Given the description of an element on the screen output the (x, y) to click on. 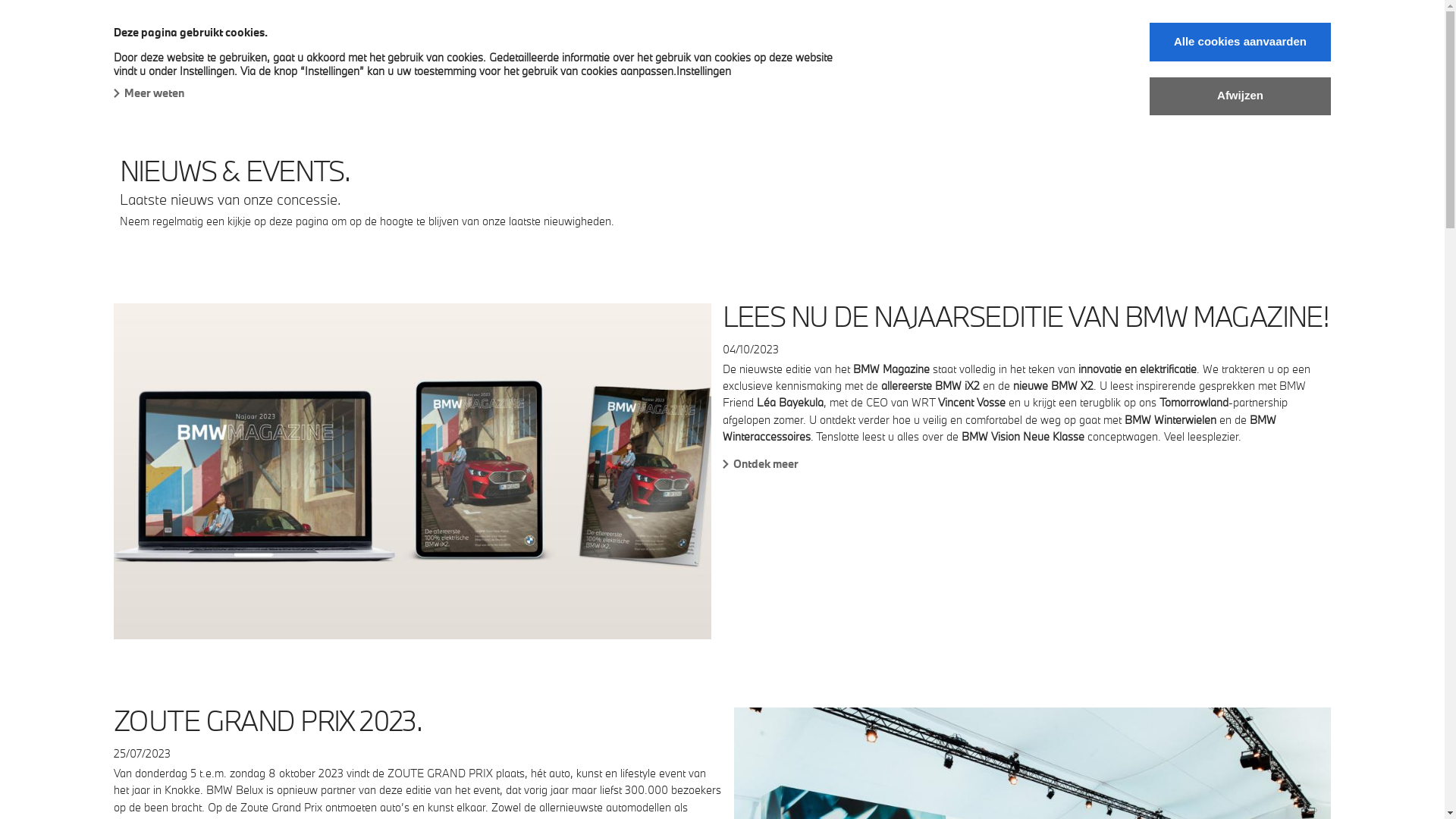
News Element type: text (659, 64)
Jobs Element type: text (717, 63)
LEES NU DE NAJAARSEDITIE VAN BMW MAGAZINE! Element type: text (1024, 316)
Alle cookies aanvaarden Element type: text (1239, 41)
Nieuwe wagens Element type: text (163, 63)
Contact Element type: text (902, 63)
Snel leverbare wagens Element type: text (301, 63)
Carrosserie DBS Element type: text (804, 63)
Ontdek meer Element type: text (1025, 463)
BMW De Schepper Element type: text (166, 31)
BMW Financial Services Element type: text (548, 63)
Afwijzen Element type: text (1239, 95)
Meer weten Element type: text (148, 92)
ZOUTE GRAND PRIX 2023. Element type: text (267, 720)
Naverkoop Element type: text (424, 63)
Skip to main content Element type: text (0, 0)
